Given the description of an element on the screen output the (x, y) to click on. 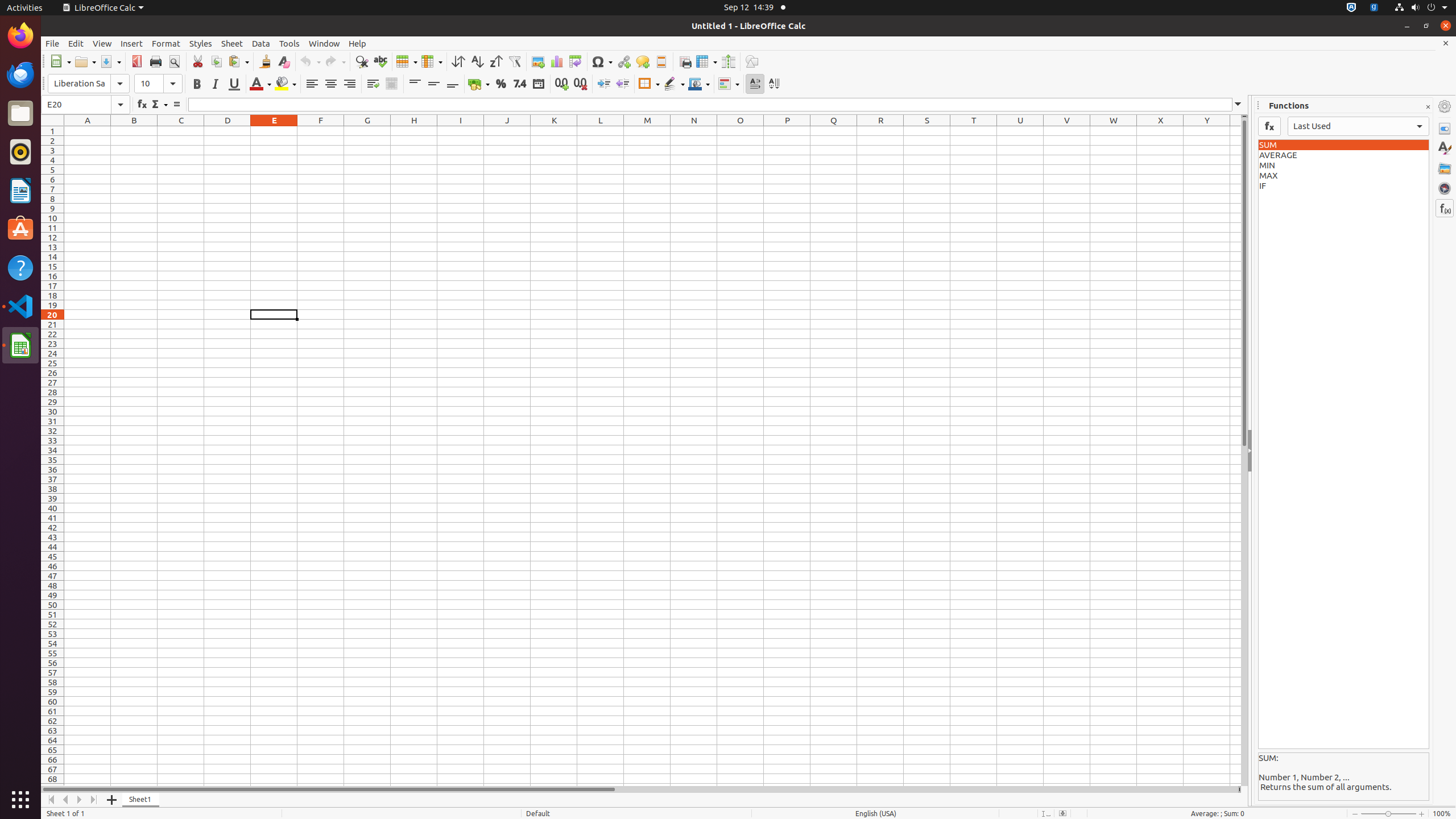
Show Applications Element type: toggle-button (20, 799)
Save Element type: push-button (109, 61)
Styles Element type: menu (200, 43)
Z1 Element type: table-cell (1235, 130)
Align Left Element type: push-button (311, 83)
